Given the description of an element on the screen output the (x, y) to click on. 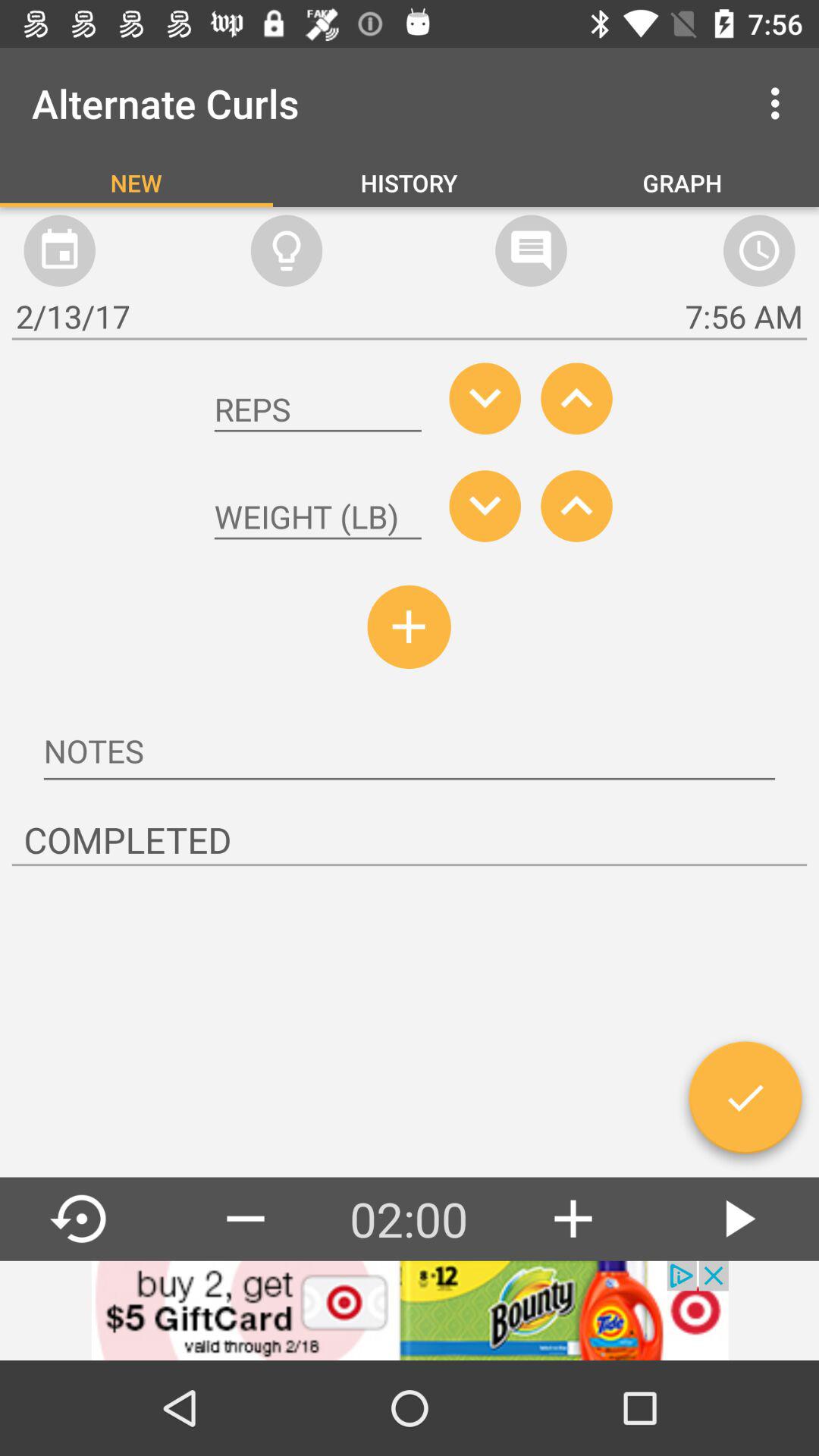
click to enter the notes (409, 752)
